Given the description of an element on the screen output the (x, y) to click on. 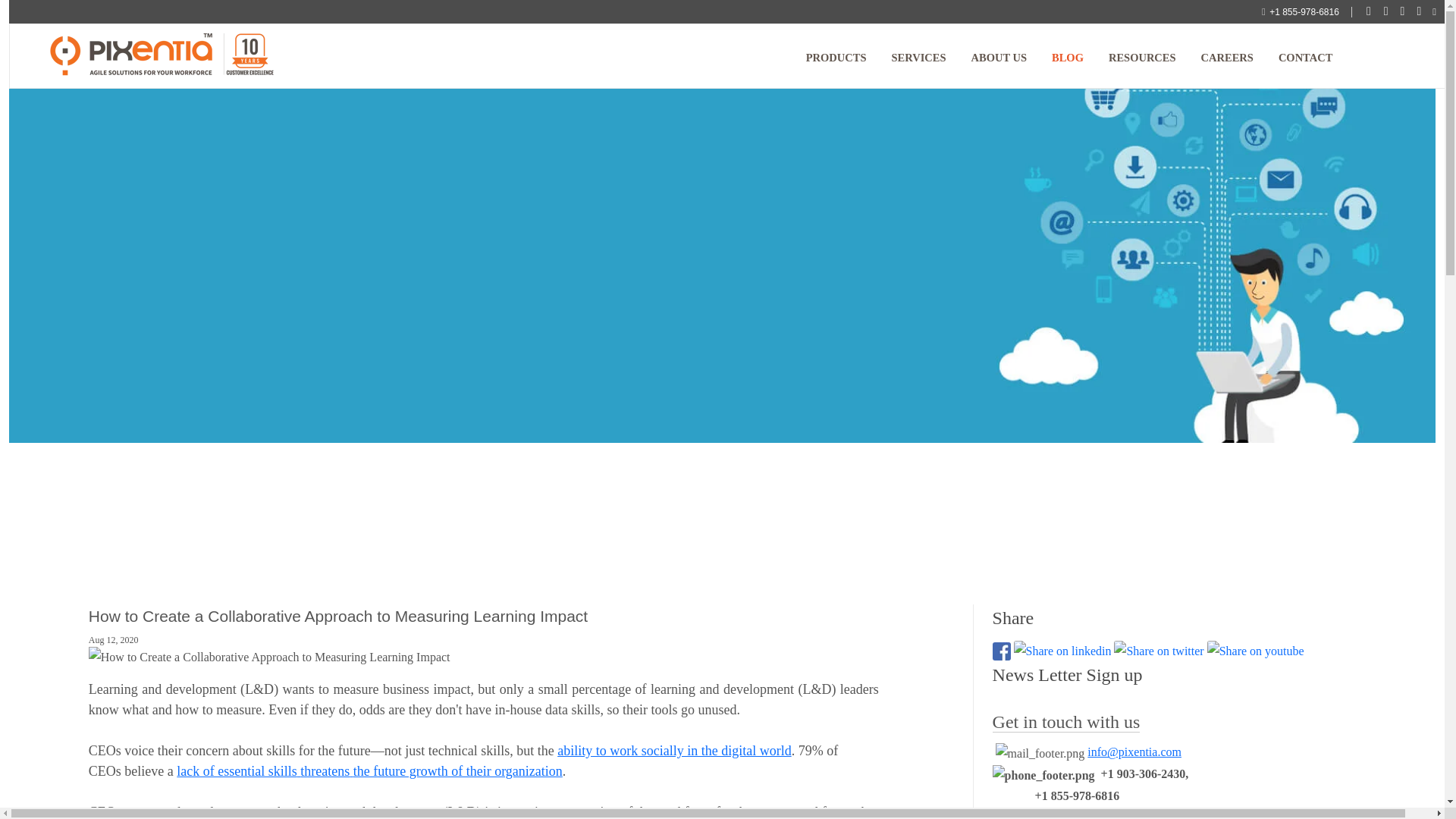
PRODUCTS (835, 57)
ability to work socially in the digital world (673, 750)
RESOURCES (1141, 57)
CAREERS (1227, 57)
BLOG (1067, 57)
CONTACT (1305, 57)
ABOUT US (998, 57)
SERVICES (918, 57)
